Given the description of an element on the screen output the (x, y) to click on. 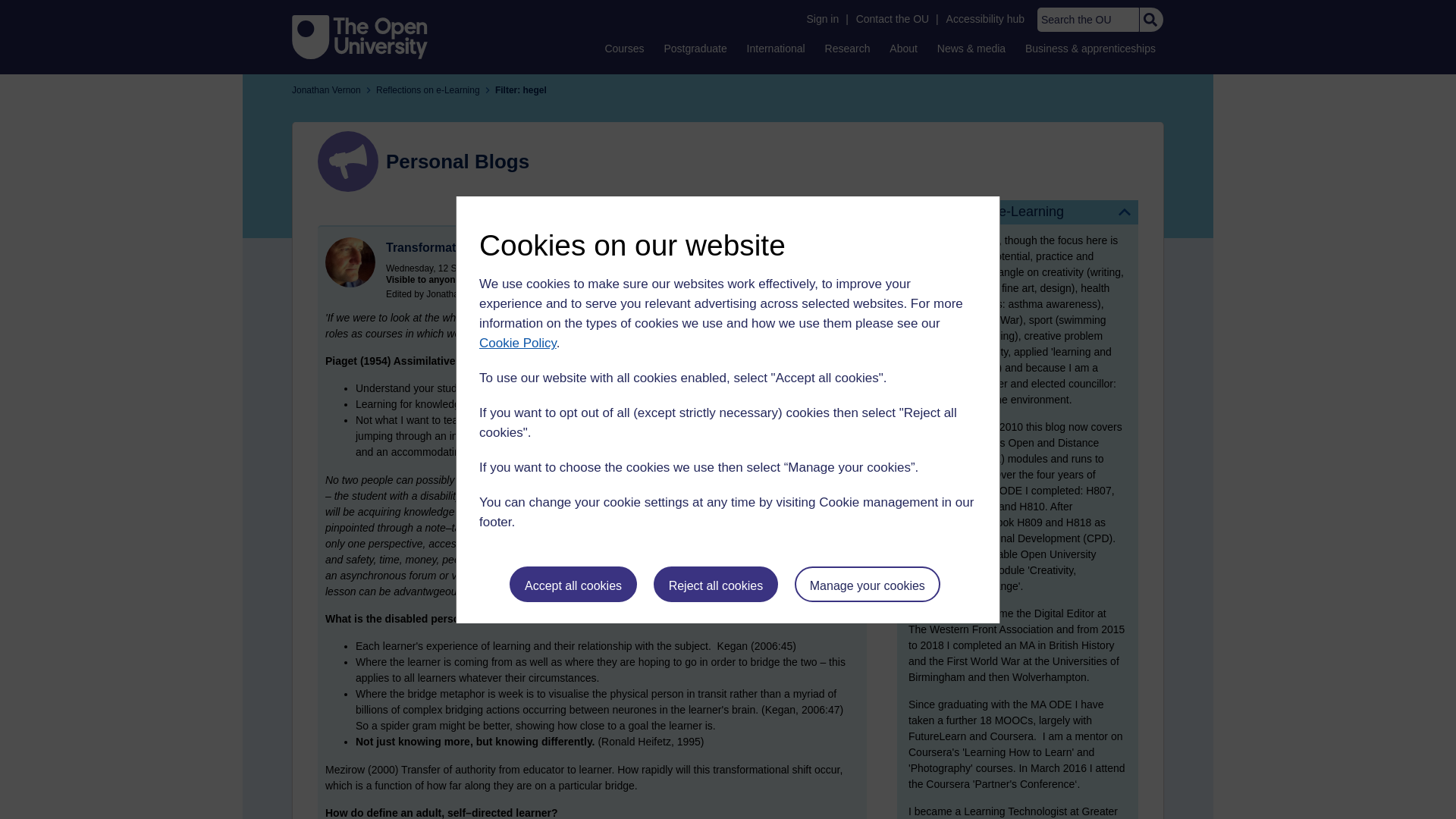
Sign in (822, 19)
Search (1149, 19)
Research (847, 48)
Reflections on e-Learning (1017, 211)
Reject all cookies (715, 583)
Postgraduate (695, 48)
Accessibility hub (985, 19)
The Open University (360, 36)
Courses (623, 48)
